Given the description of an element on the screen output the (x, y) to click on. 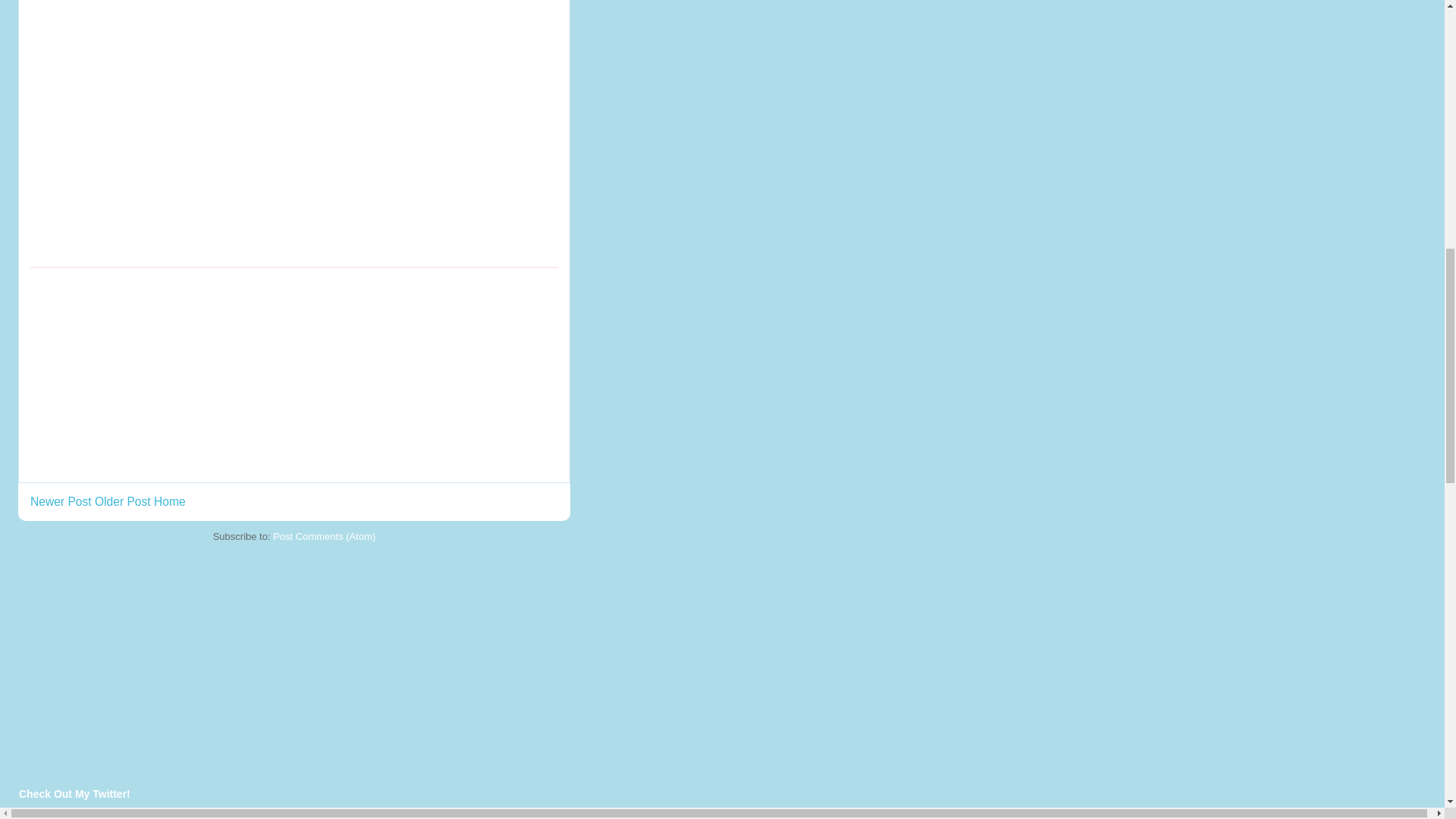
Advertisement (143, 373)
Advertisement (134, 657)
Older Post (122, 501)
Newer Post (60, 501)
Newer Post (60, 501)
Home (170, 501)
Older Post (122, 501)
